Given the description of an element on the screen output the (x, y) to click on. 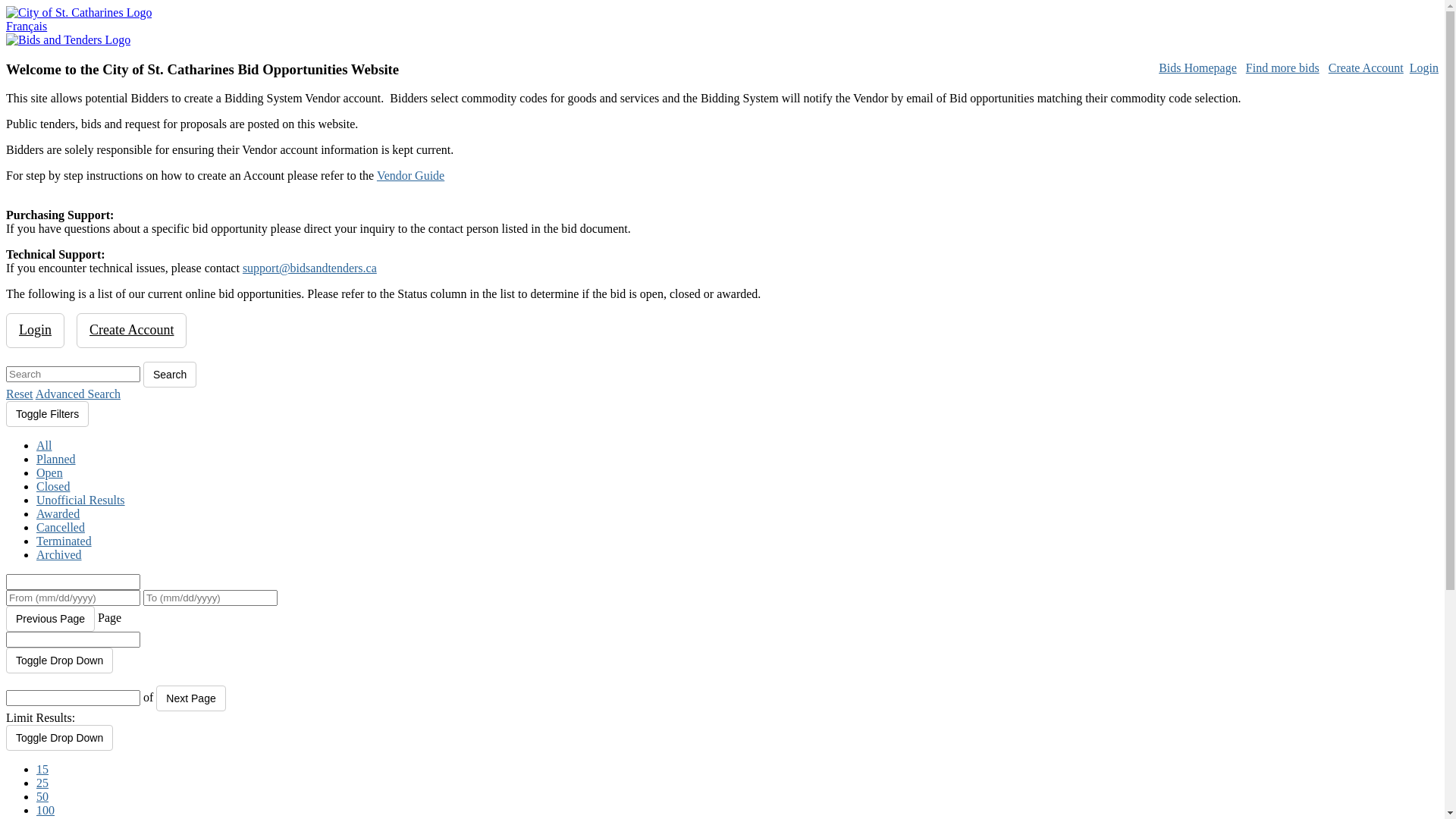
50 Element type: text (42, 796)
Bids Homepage Element type: text (1197, 67)
Create Account Element type: text (1365, 67)
Open Bids and Tenders site in a new window Element type: hover (68, 39)
Awarded Element type: text (57, 513)
Toggle Filters Element type: text (47, 413)
Open City of St. Catharines site in a new window Element type: hover (78, 12)
Advanced Search Element type: text (77, 393)
15 Element type: text (42, 768)
Create Account Element type: text (131, 330)
Vendor Guide Element type: text (410, 175)
Find more bids Element type: text (1282, 67)
Unofficial Results Element type: text (80, 499)
All Element type: text (43, 445)
Toggle Drop Down Element type: text (59, 737)
Closed Element type: text (52, 486)
Open Element type: text (49, 472)
Next Page Element type: text (190, 698)
Skip to Content (Press Enter) Element type: text (0, 0)
Planned Element type: text (55, 458)
100 Element type: text (45, 809)
Login Element type: text (1423, 67)
Terminated Element type: text (63, 540)
Login Element type: text (35, 330)
Cancelled Element type: text (60, 526)
Toggle Drop Down Element type: text (59, 660)
support@bidsandtenders.ca Element type: text (309, 267)
Archived Element type: text (58, 554)
Previous Page Element type: text (50, 618)
25 Element type: text (42, 782)
Search Element type: text (169, 374)
Reset Element type: text (19, 393)
